Given the description of an element on the screen output the (x, y) to click on. 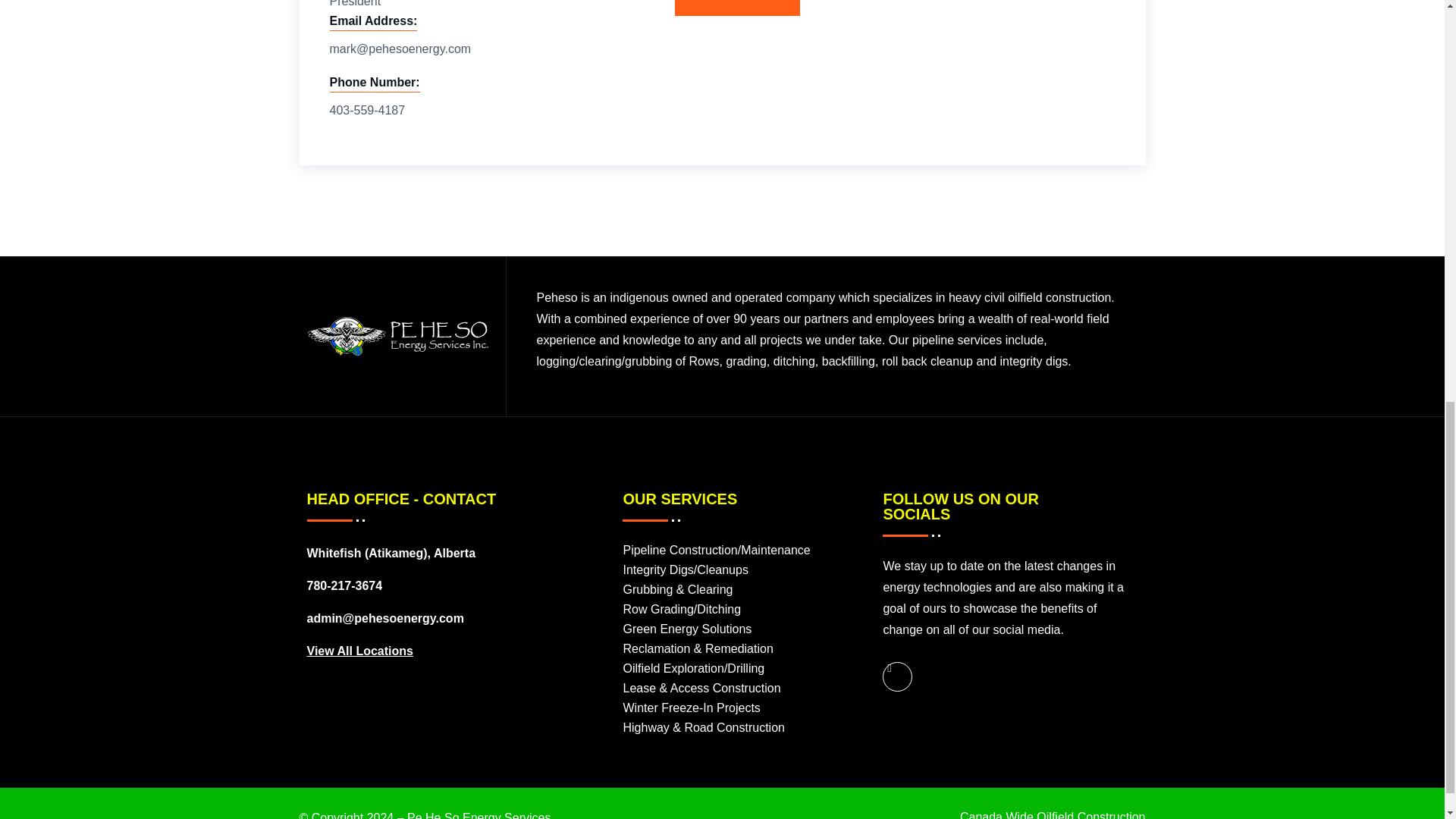
E-MAIL MARK (737, 7)
780-217-3674 (343, 586)
View All Locations (358, 650)
403-559-4187 (366, 110)
